Given the description of an element on the screen output the (x, y) to click on. 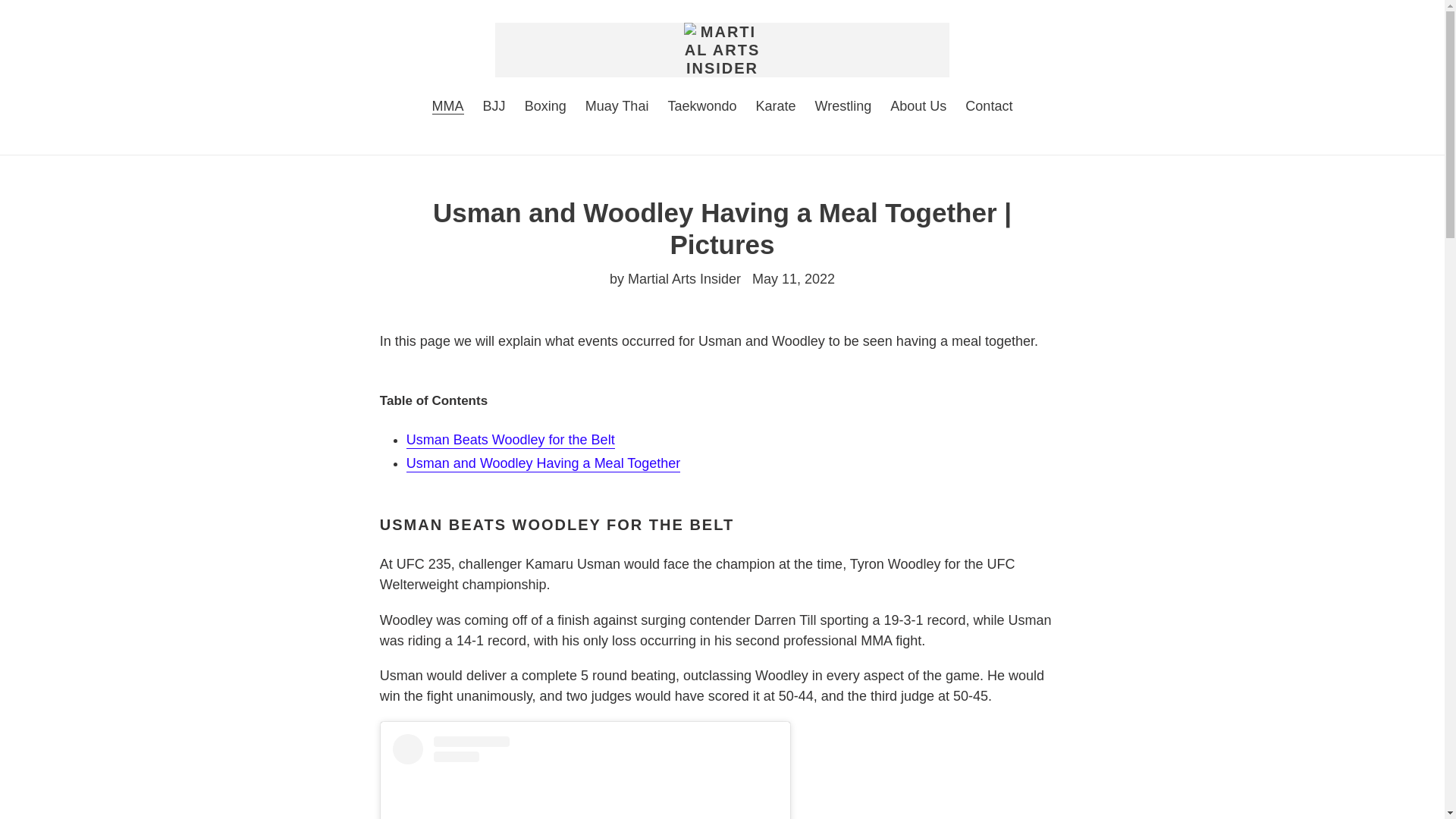
BJJ (494, 107)
Muay Thai (617, 107)
Wrestling (843, 107)
Usman and Woodley Having a Meal Together (543, 463)
usman and woodley having a meal together (543, 463)
Contact (989, 107)
usman beats woodley for the belt ufc (510, 440)
MMA (448, 107)
Boxing (544, 107)
About Us (917, 107)
View this post on Instagram (585, 776)
Karate (775, 107)
Usman Beats Woodley for the Belt (510, 440)
Taekwondo (701, 107)
